Given the description of an element on the screen output the (x, y) to click on. 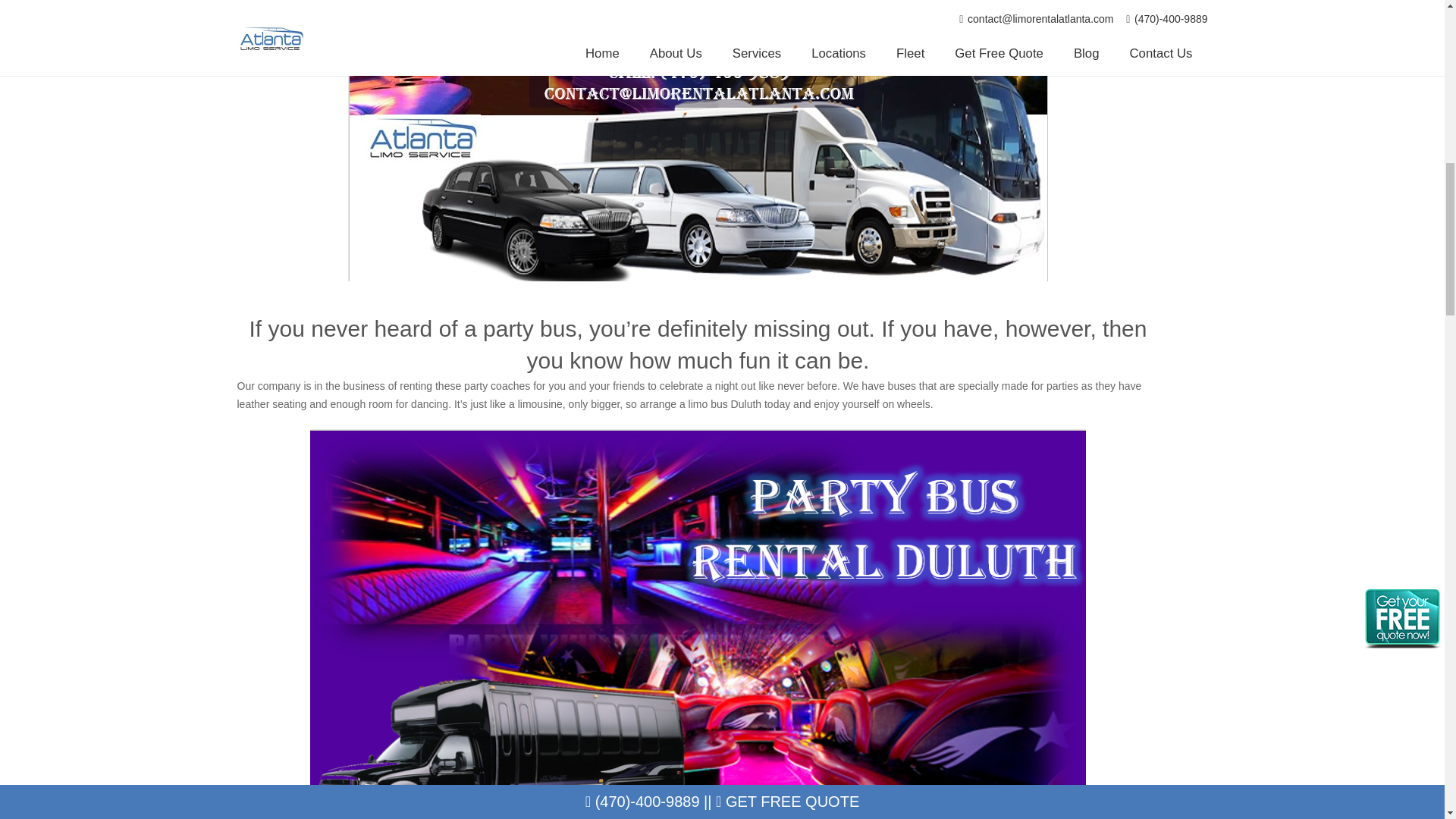
Back to top (1413, 26)
